Given the description of an element on the screen output the (x, y) to click on. 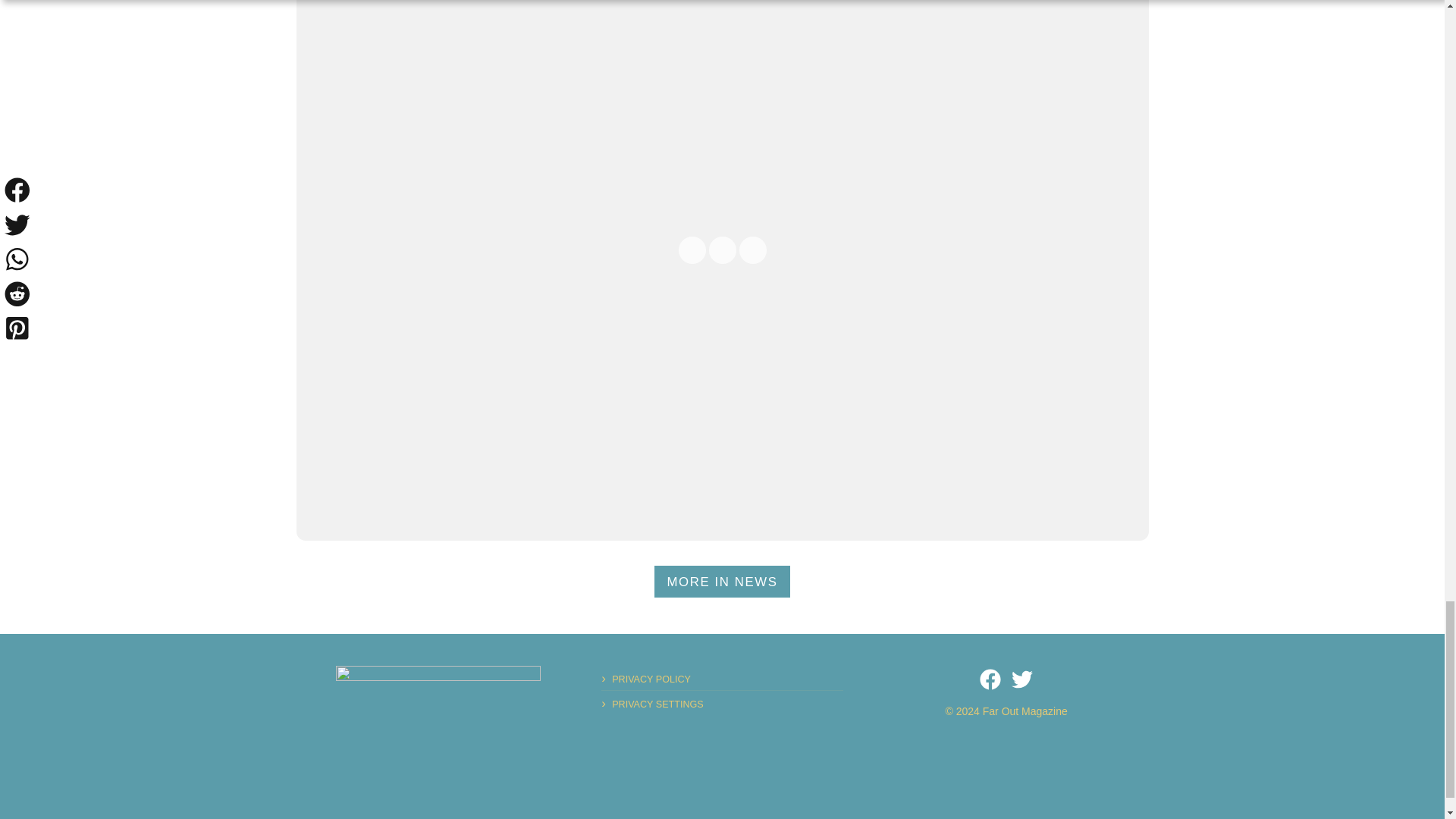
Hip Hop Hero on Twitter (1021, 679)
Hip Hop Hero (438, 714)
Hip Hop Hero on Facebook (990, 679)
More in News (721, 581)
